Given the description of an element on the screen output the (x, y) to click on. 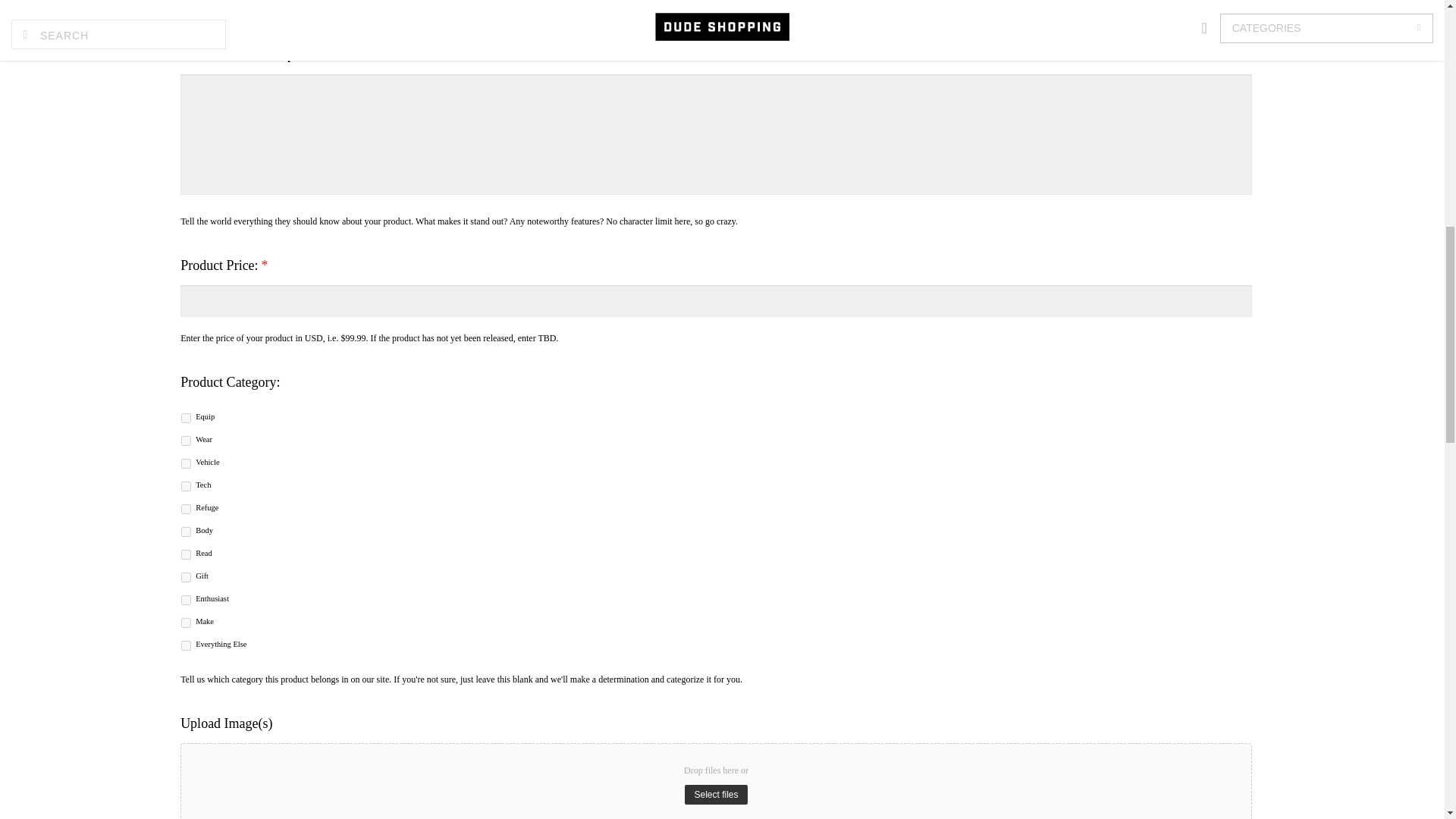
Make (185, 623)
Read (185, 554)
Equip (185, 418)
Body (185, 532)
Refuge (185, 509)
Everything Else (185, 645)
Enthusiast (185, 600)
Tech (185, 486)
Vehicle (185, 463)
Select files (715, 794)
